Given the description of an element on the screen output the (x, y) to click on. 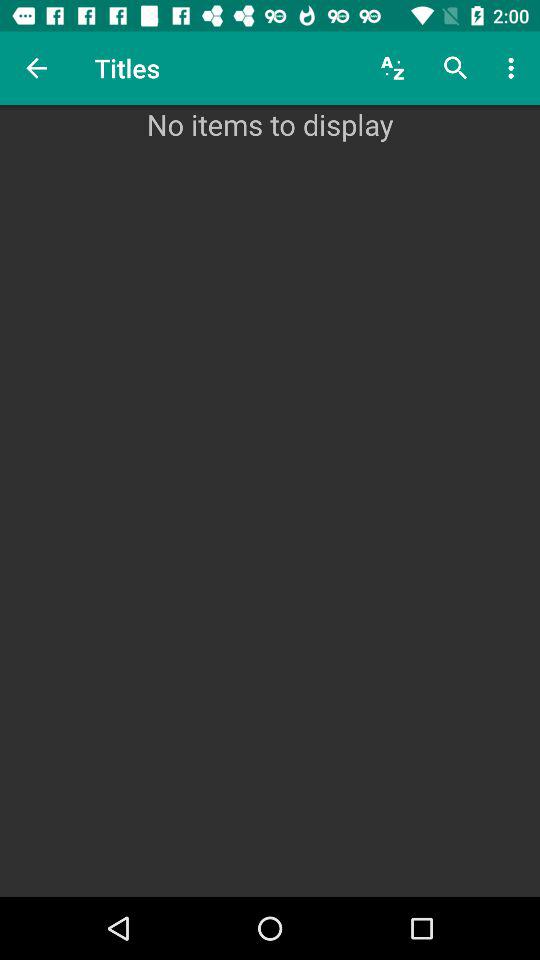
tap item to the right of the titles item (392, 67)
